Given the description of an element on the screen output the (x, y) to click on. 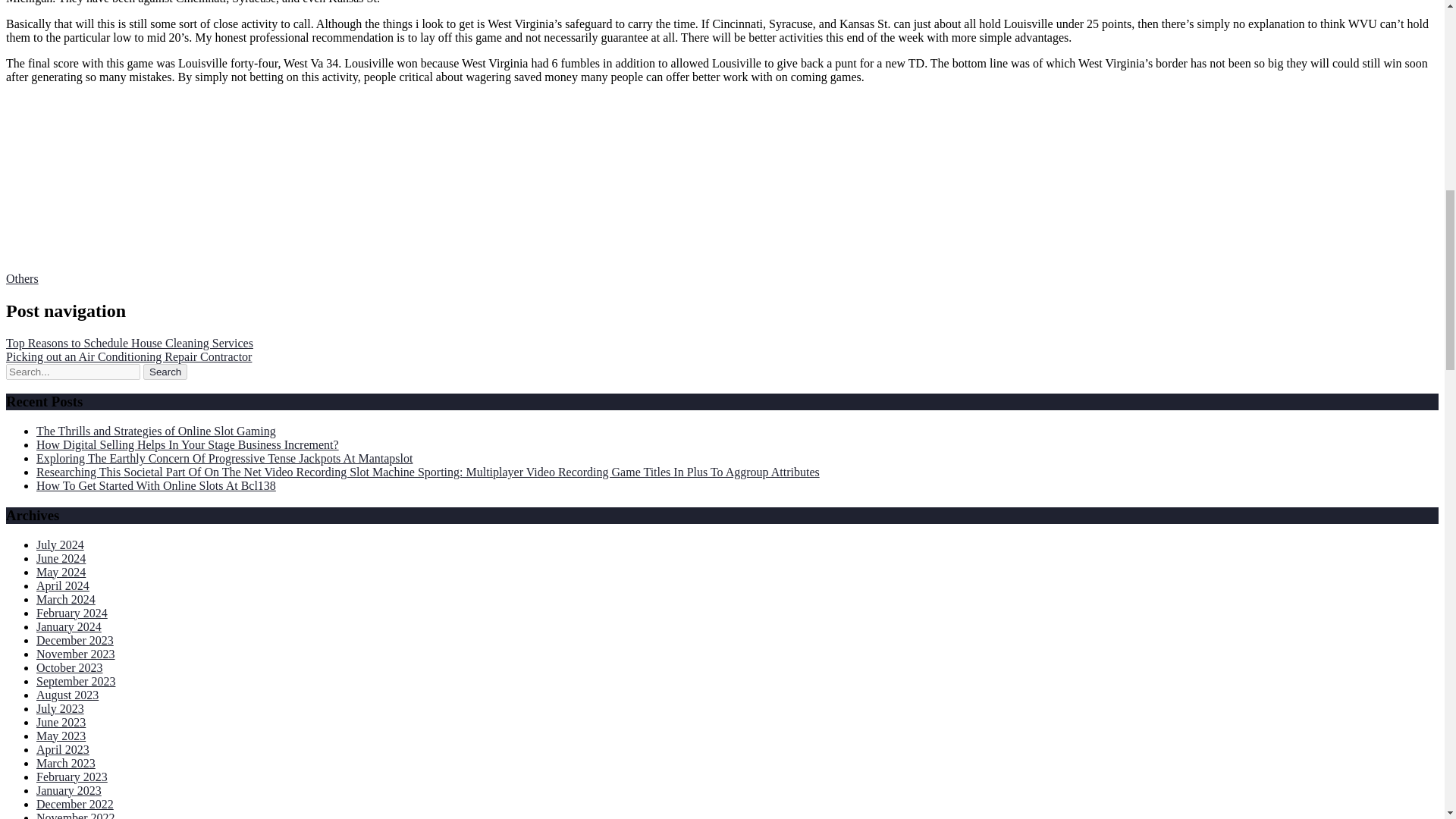
Search (164, 371)
cheat slot (28, 238)
mpo slot (26, 197)
tips bermain slot (46, 156)
daywinbet (30, 225)
How Digital Selling Helps In Your Stage Business Increment? (187, 444)
mahjong ways (41, 115)
slot88 (19, 184)
joker123 (27, 143)
gampang maxwin (49, 170)
The Thrills and Strategies of Online Slot Gaming (156, 431)
slot777 (23, 211)
Others (22, 278)
server kamboja (42, 129)
